Given the description of an element on the screen output the (x, y) to click on. 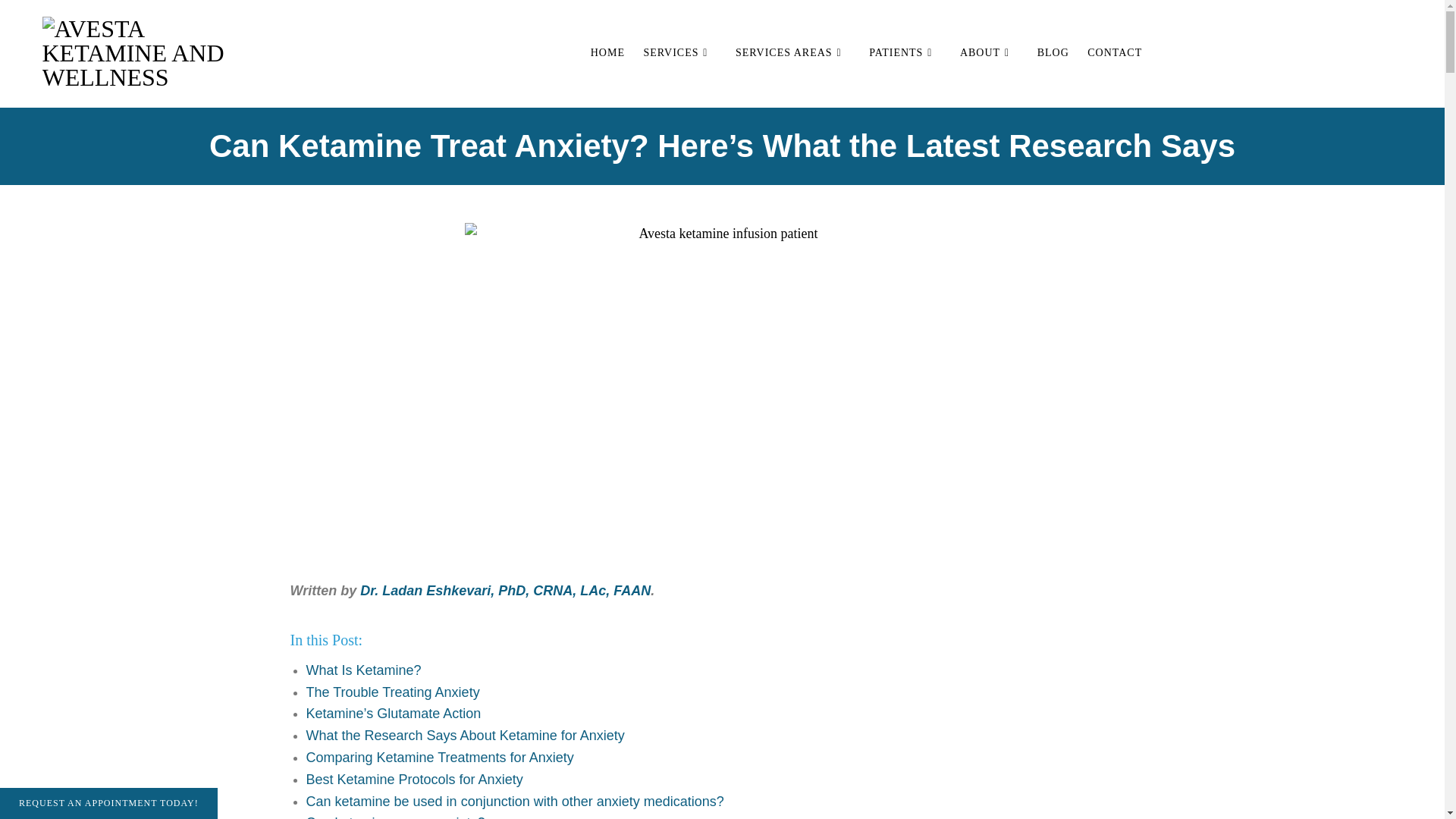
Dr. Ladan Eshkevari, PhD, CRNA, LAc, FAAN (504, 590)
SERVICES (678, 52)
REQUEST AN APPOINTMENT TODAY! (108, 803)
CONTACT (1115, 52)
What Is Ketamine? (363, 670)
PATIENTS (905, 52)
BLOG (1053, 52)
HOME (607, 52)
ABOUT (989, 52)
SERVICES AREAS (793, 52)
